Given the description of an element on the screen output the (x, y) to click on. 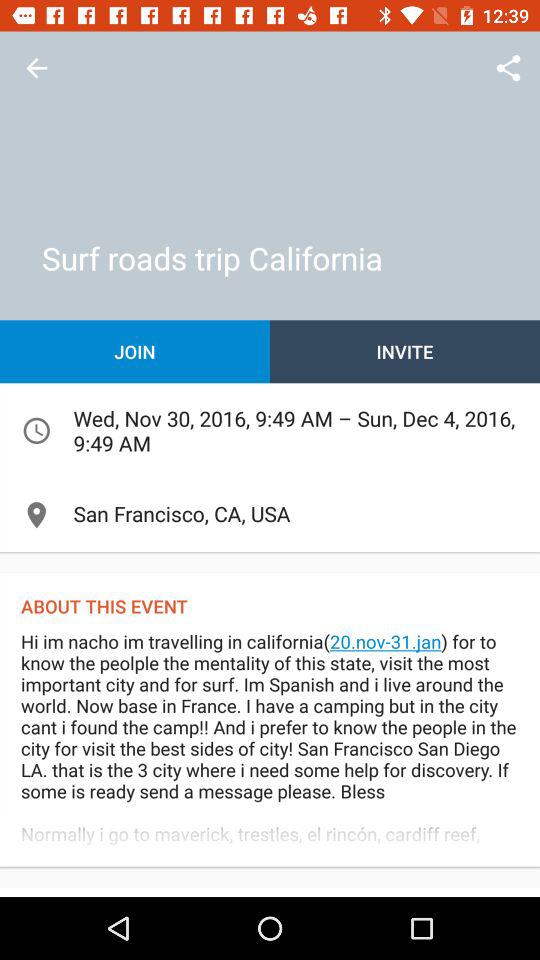
open icon on the right (405, 351)
